Given the description of an element on the screen output the (x, y) to click on. 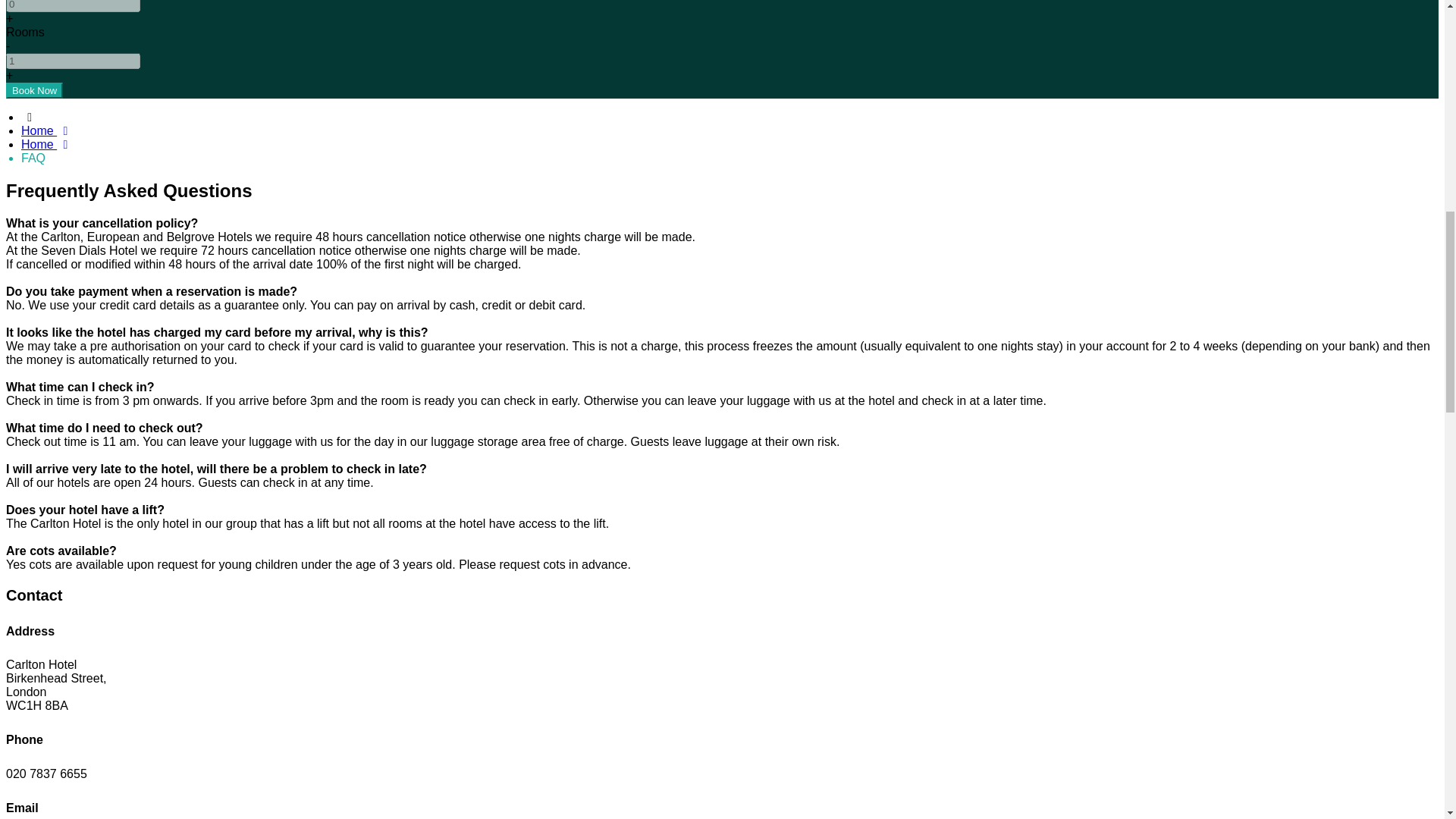
Home (47, 144)
Home (47, 130)
1 (72, 60)
0 (72, 6)
Book Now (33, 90)
Book Now (33, 90)
